Given the description of an element on the screen output the (x, y) to click on. 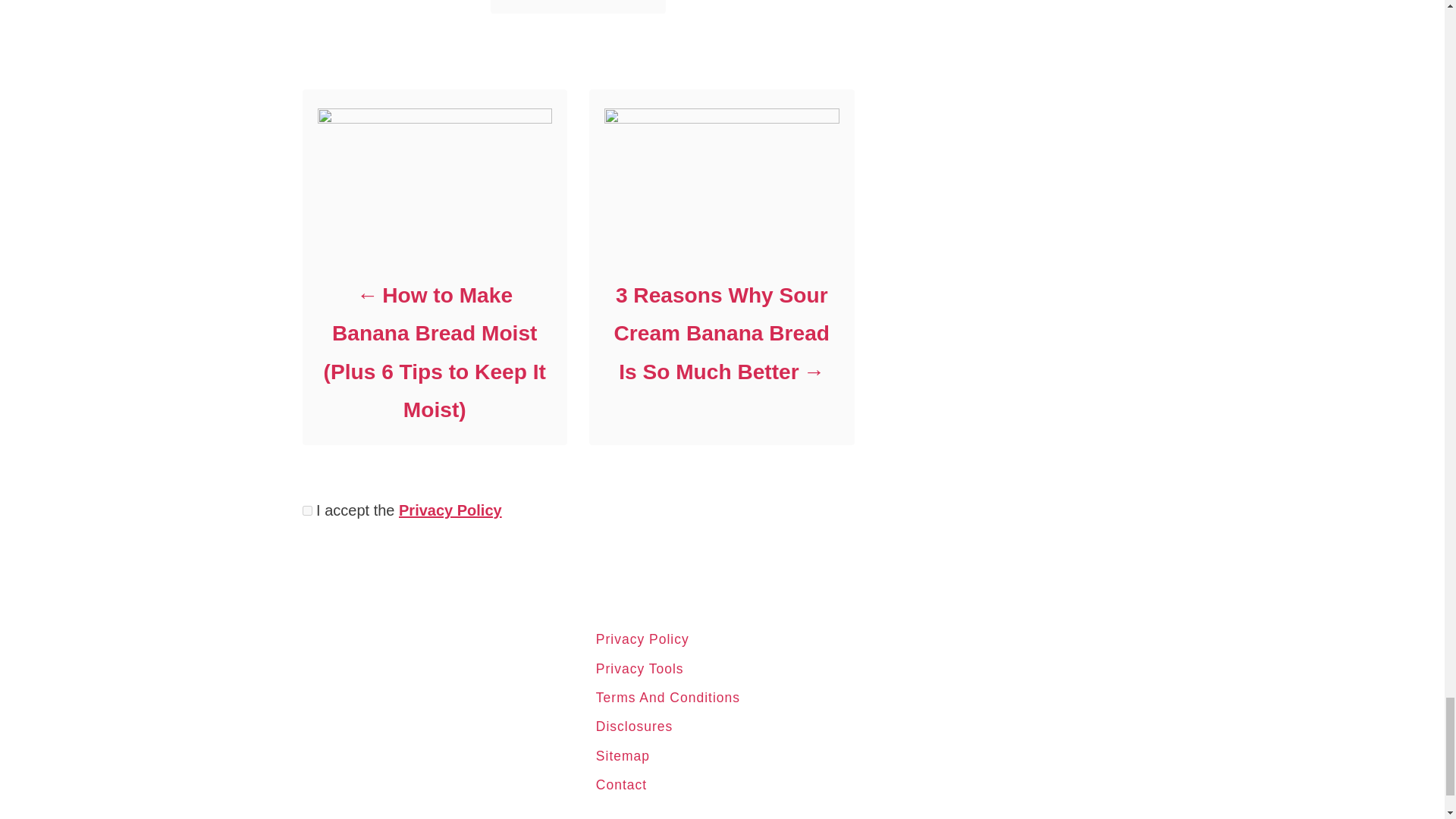
1 (306, 510)
